Given the description of an element on the screen output the (x, y) to click on. 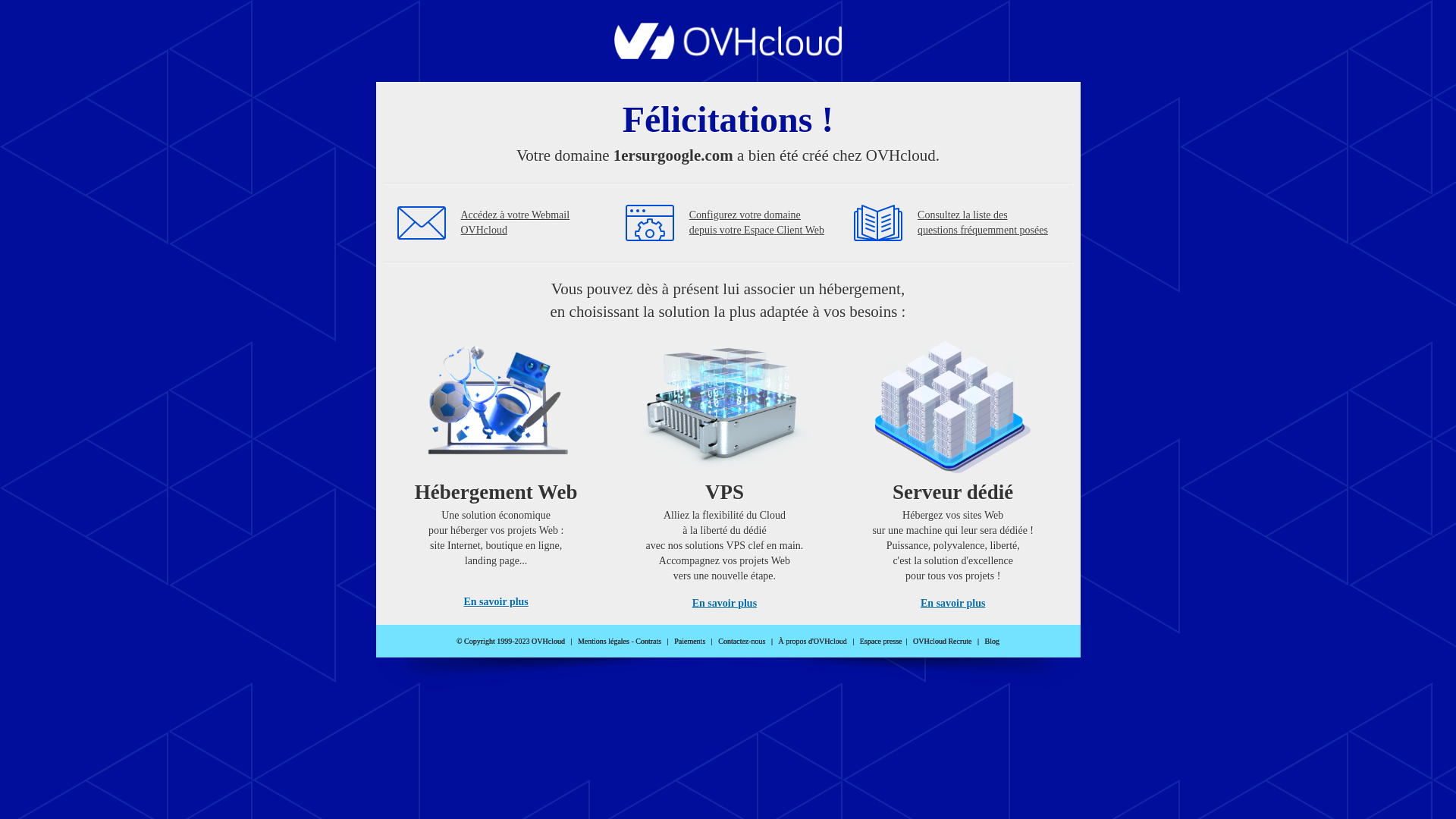
OVHcloud Element type: hover (727, 54)
En savoir plus Element type: text (495, 601)
Paiements Element type: text (689, 641)
En savoir plus Element type: text (724, 602)
En savoir plus Element type: text (952, 602)
OVHcloud Recrute Element type: text (942, 641)
Contactez-nous Element type: text (741, 641)
VPS Element type: hover (724, 469)
Configurez votre domaine
depuis votre Espace Client Web Element type: text (756, 222)
Espace presse Element type: text (880, 641)
Blog Element type: text (992, 641)
